Given the description of an element on the screen output the (x, y) to click on. 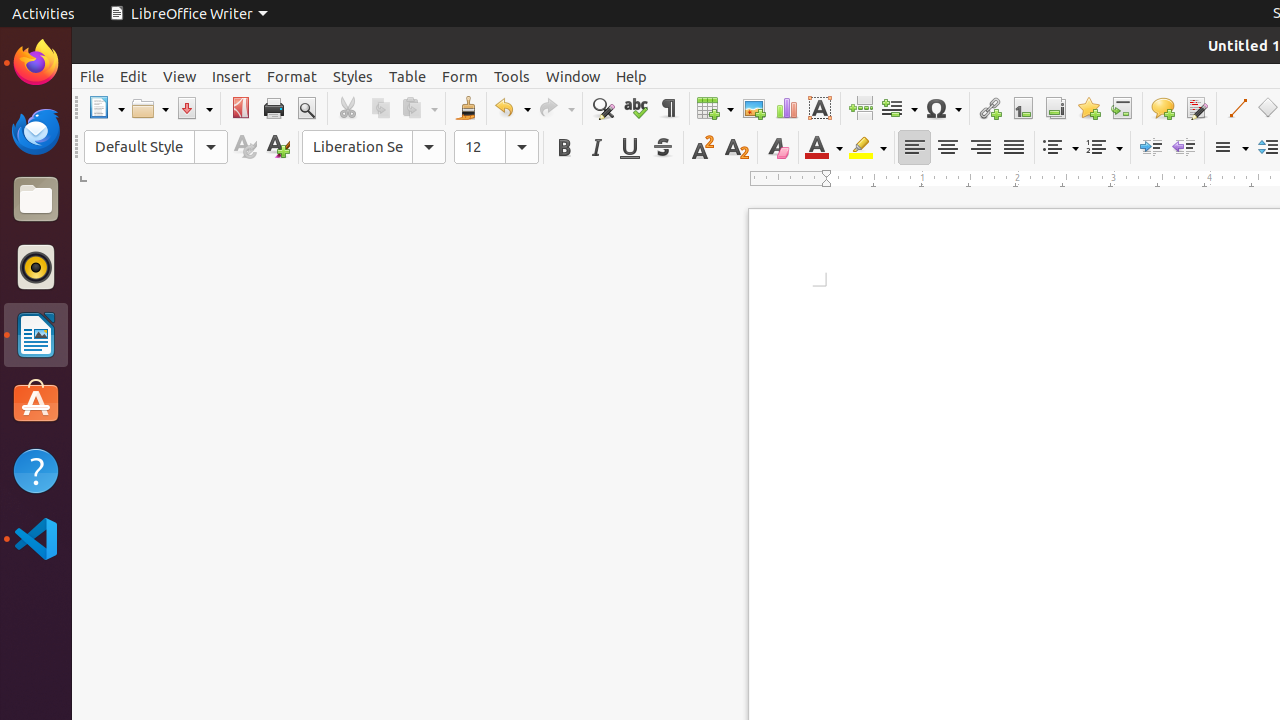
Help Element type: menu (631, 76)
Font Name Element type: combo-box (374, 147)
Left Element type: toggle-button (914, 147)
Clear Element type: push-button (777, 147)
Footnote Element type: push-button (1022, 108)
